Given the description of an element on the screen output the (x, y) to click on. 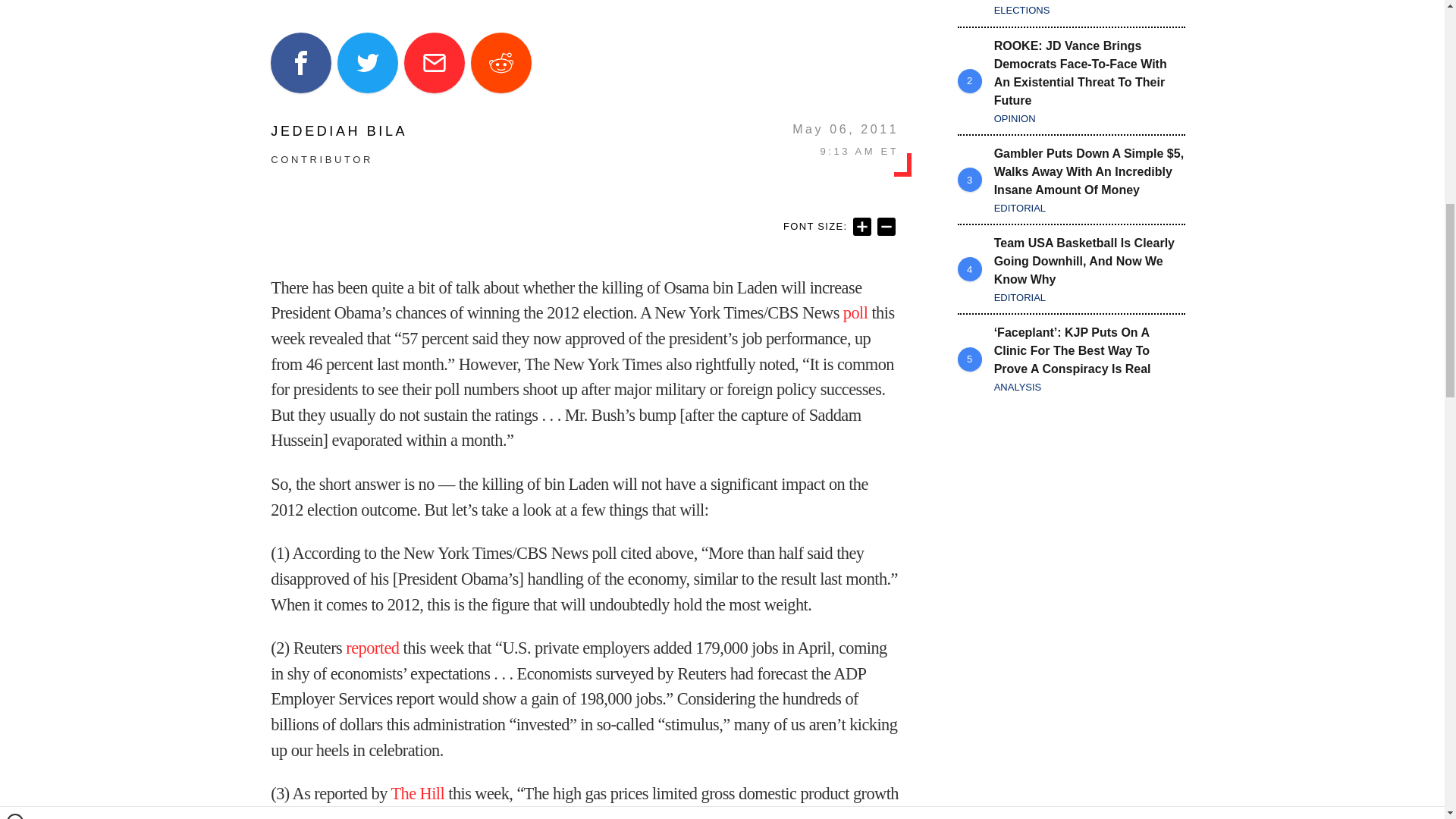
JEDEDIAH BILA (338, 130)
Close window (14, 6)
poll (855, 312)
View More Articles By Jedediah Bila (338, 130)
reported (372, 647)
